Given the description of an element on the screen output the (x, y) to click on. 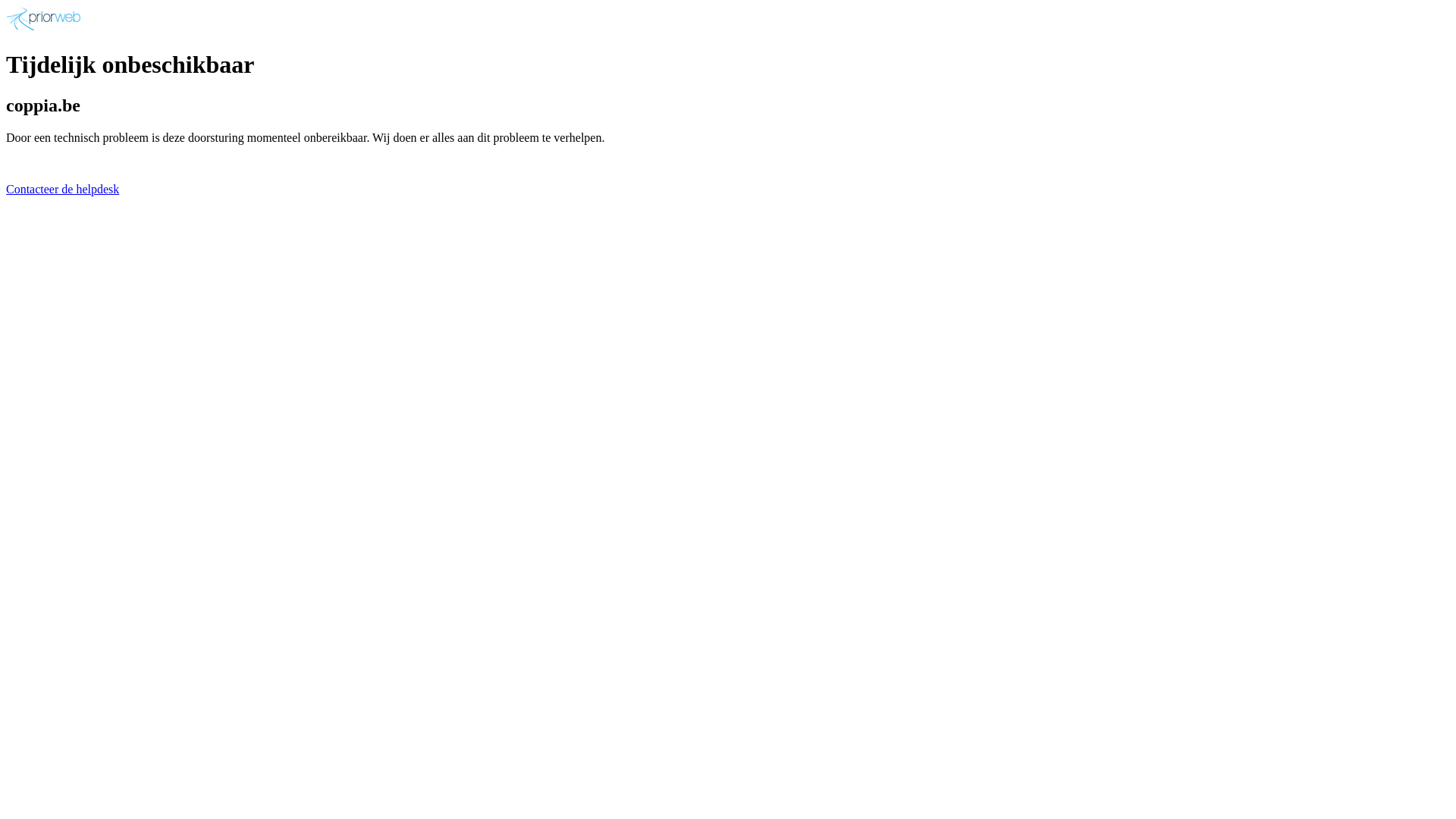
Contacteer de helpdesk Element type: text (62, 188)
